Given the description of an element on the screen output the (x, y) to click on. 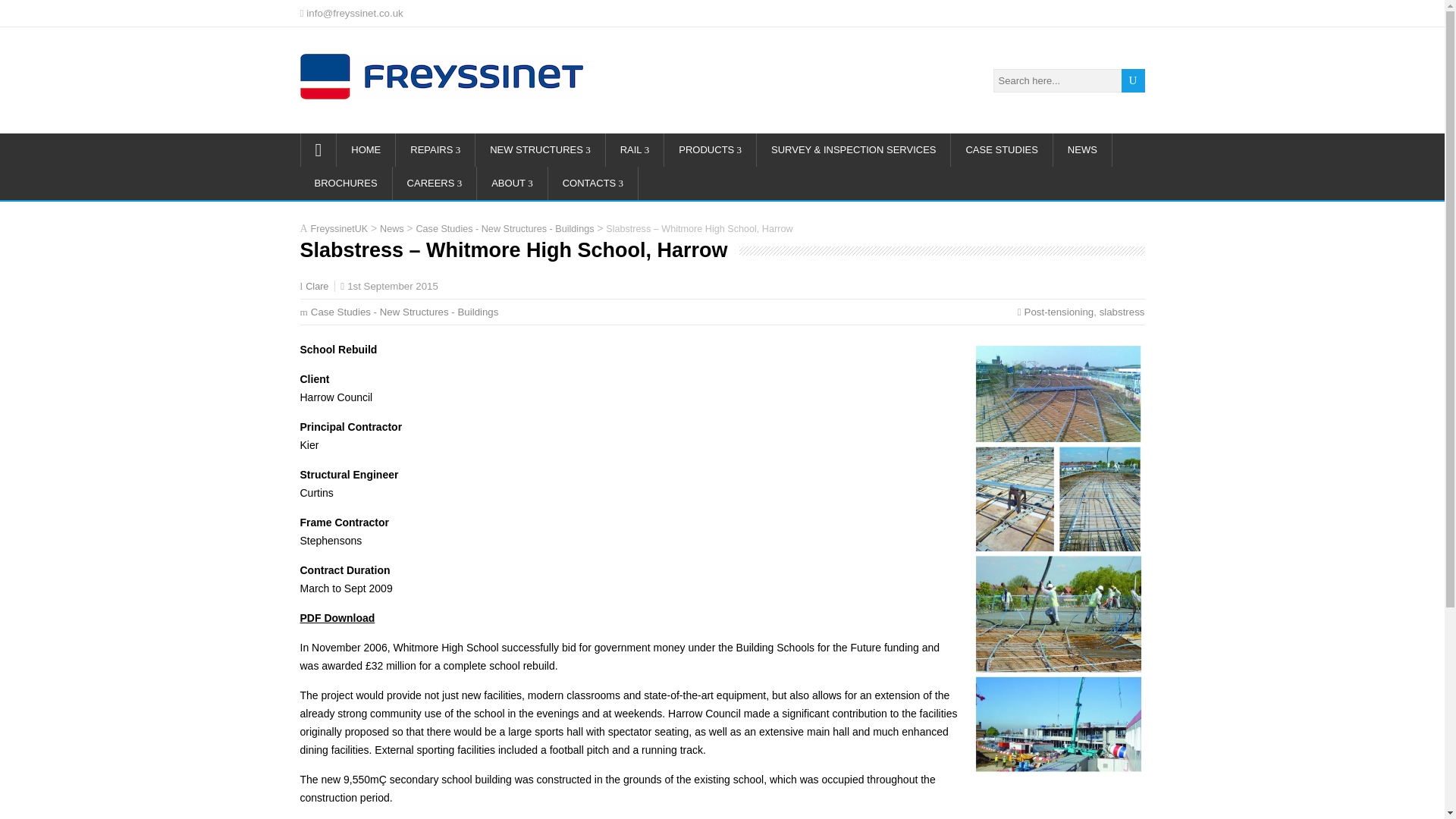
Go to FreyssinetUK. (339, 228)
U (1132, 80)
NEWS (1082, 150)
Go to News. (392, 228)
Posts by Clare (317, 286)
U (1132, 80)
HOME (366, 150)
BROCHURES (346, 183)
RAIL (635, 150)
REPAIRS (436, 150)
school rebuild (1058, 559)
U (1132, 80)
CASE STUDIES (1001, 150)
NEW STRUCTURES (540, 150)
